Given the description of an element on the screen output the (x, y) to click on. 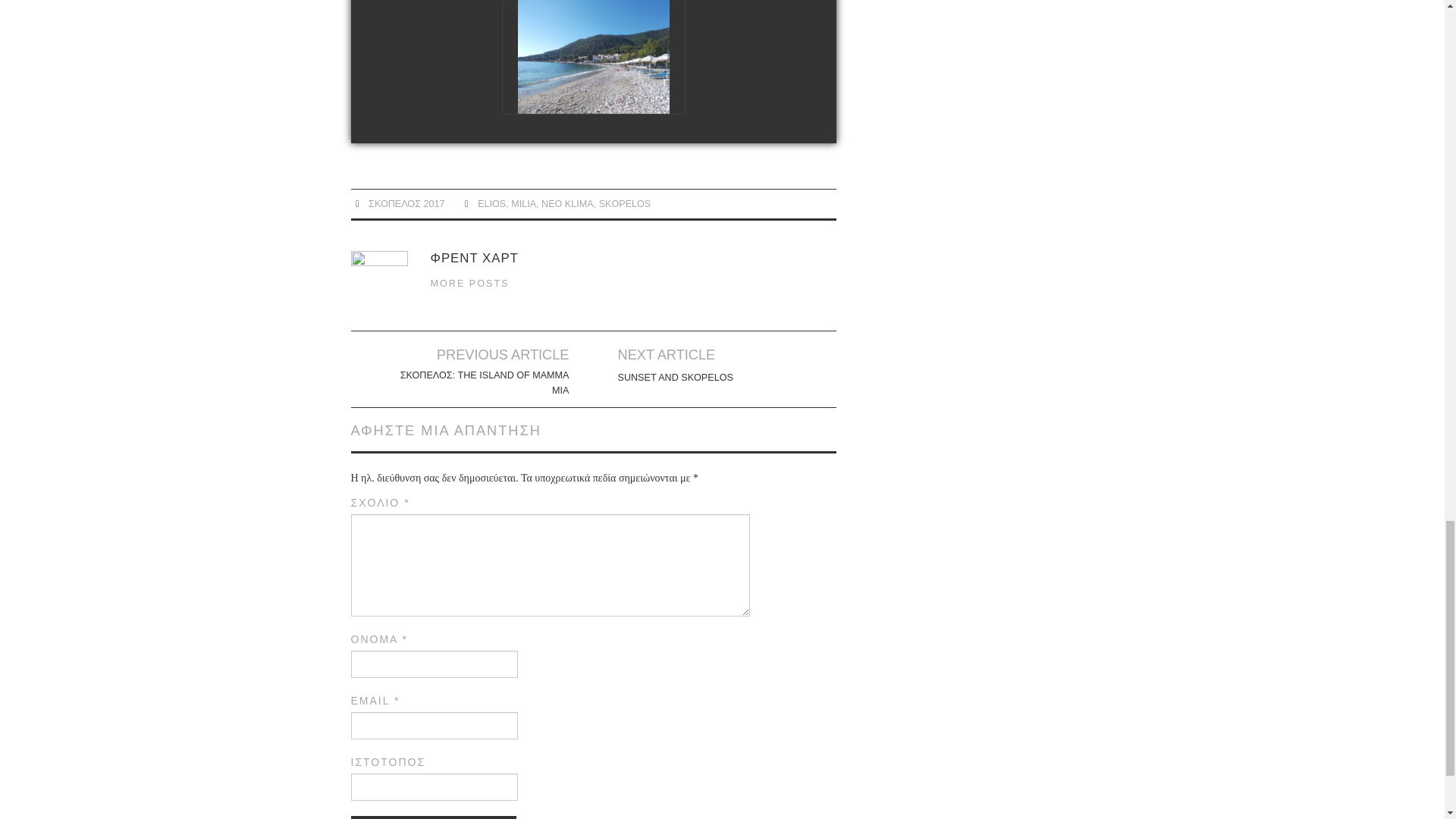
MORE POSTS (469, 283)
SKOPELOS (624, 204)
SUNSET AND SKOPELOS (674, 377)
NEO KLIMA (567, 204)
MILIA (523, 204)
ELIOS (491, 204)
